Given the description of an element on the screen output the (x, y) to click on. 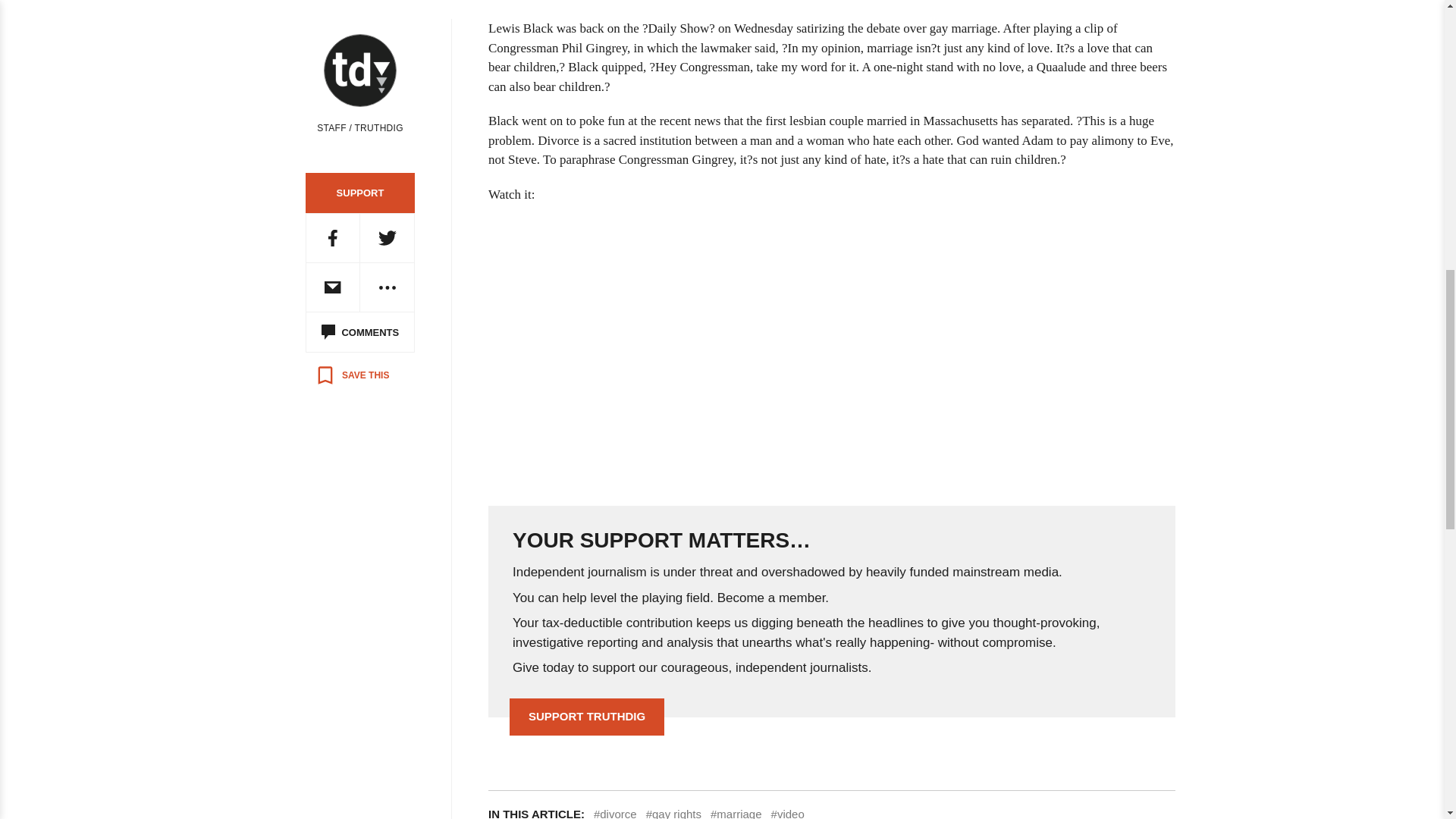
Save to read later (351, 375)
